Given the description of an element on the screen output the (x, y) to click on. 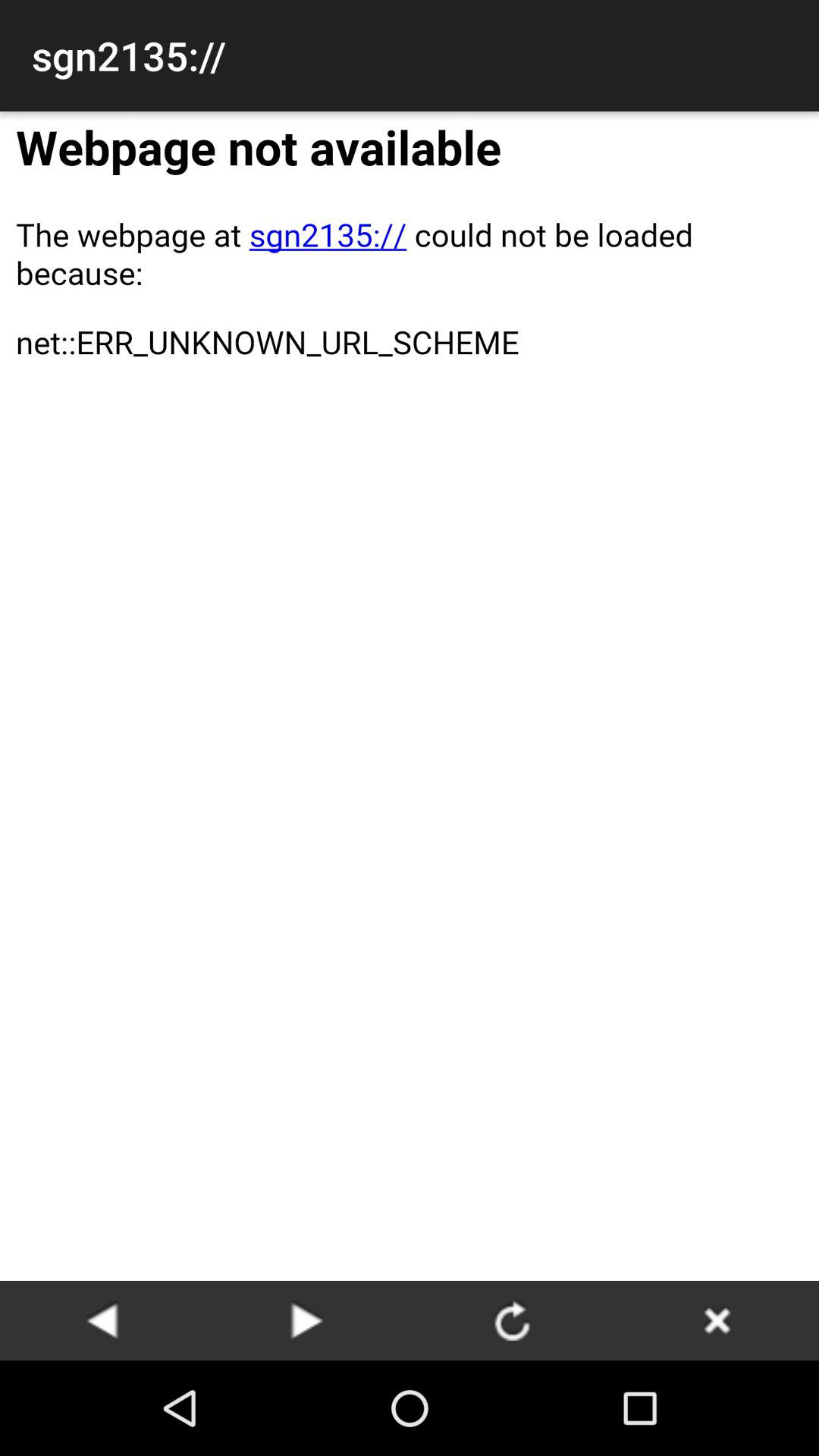
reload button (511, 1320)
